Given the description of an element on the screen output the (x, y) to click on. 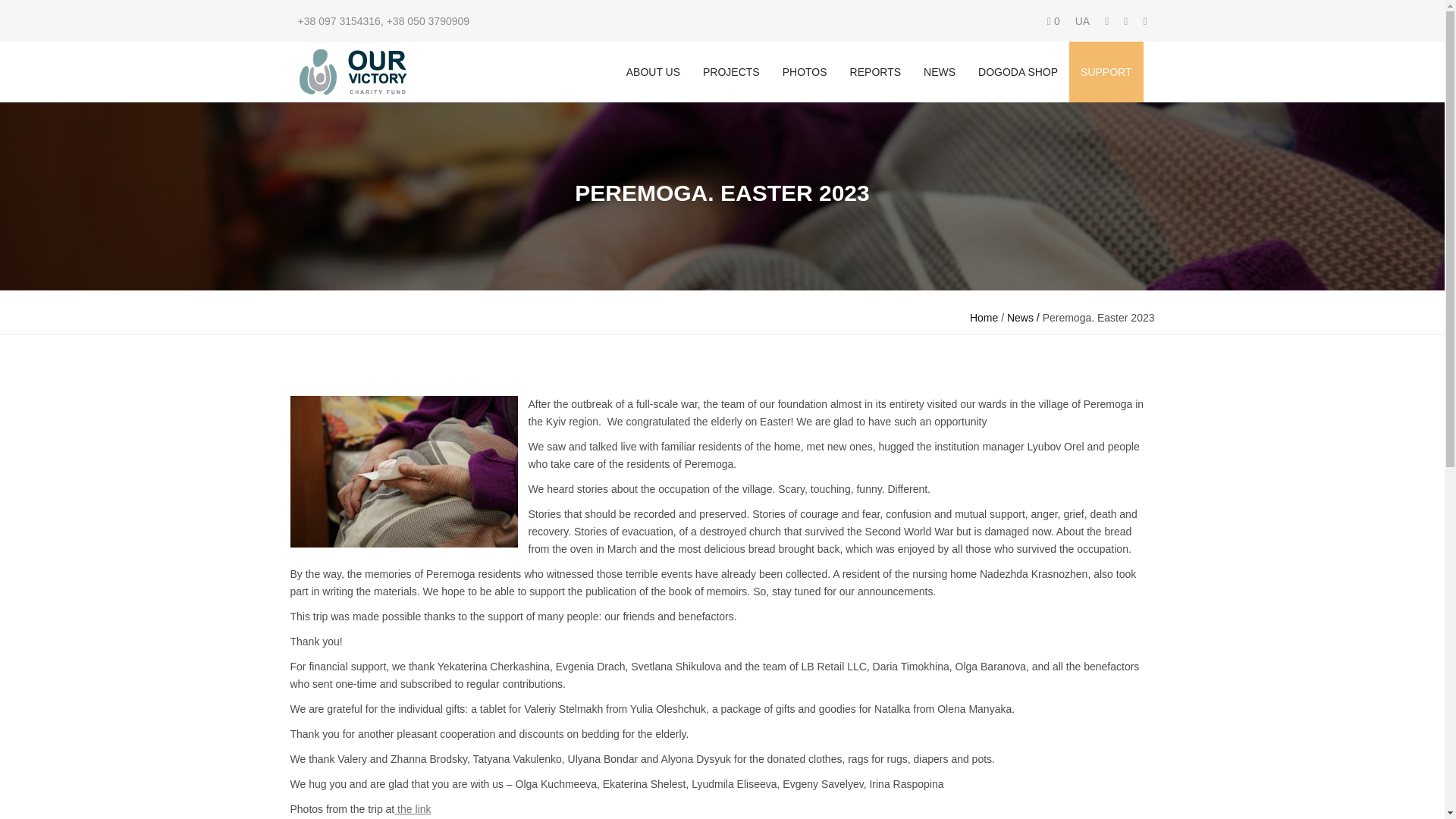
Support (1105, 71)
"Nasha Peremoga" Charitable Foundation (351, 72)
the link (412, 808)
Projects (731, 71)
SUPPORT (1105, 71)
Home (983, 317)
PHOTOS (804, 71)
REPORTS (875, 71)
About Us (652, 71)
UA (1082, 21)
